Given the description of an element on the screen output the (x, y) to click on. 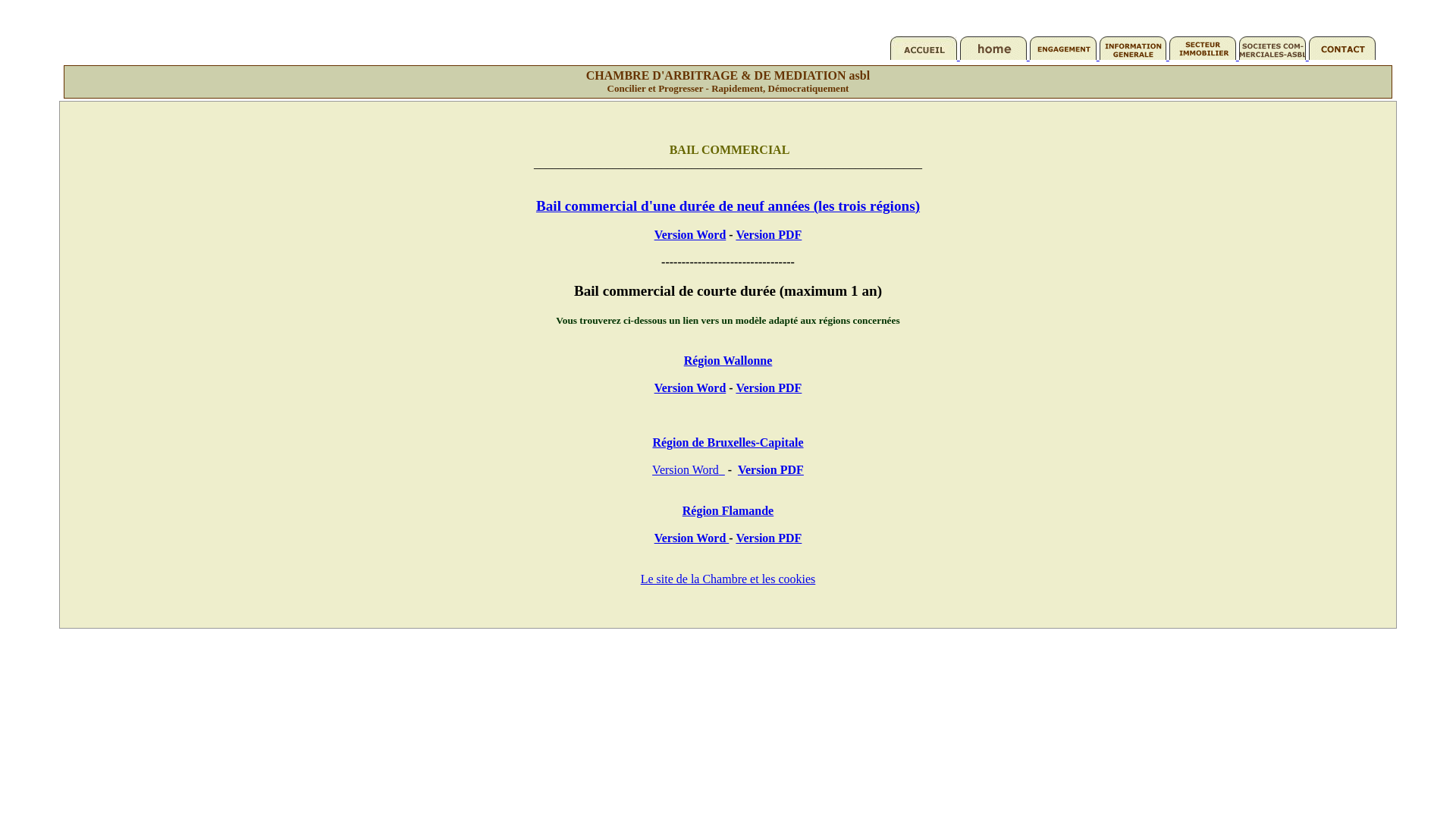
Le site de la Chambre et les cookies Element type: text (727, 578)
Version PDF Element type: text (770, 469)
Version PDF Element type: text (768, 537)
Version PDF Element type: text (768, 234)
Version Word Element type: text (690, 387)
Version PDF Element type: text (768, 387)
Version Word Element type: text (685, 469)
Version Word Element type: text (691, 537)
  Element type: text (721, 469)
Version Word Element type: text (690, 234)
